Given the description of an element on the screen output the (x, y) to click on. 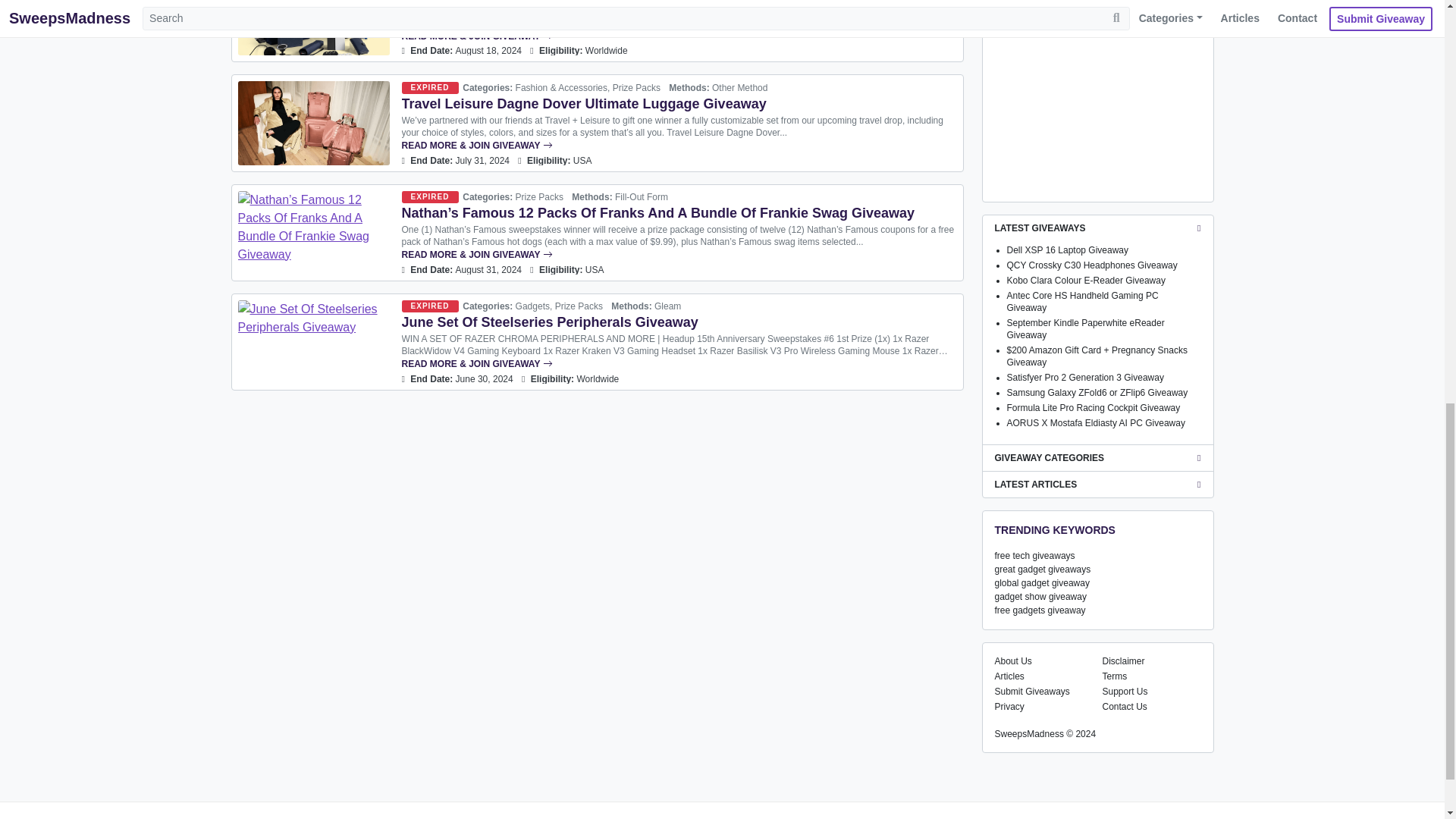
Travel Leisure Dagne Dover Ultimate Luggage Giveaway (314, 122)
Chipolos Adventure Giveaway (314, 27)
Travel Leisure Dagne Dover Ultimate Luggage Giveaway (584, 103)
Chipolos Adventure Giveaway (678, 36)
Chipolos Adventure Giveaway (498, 1)
